Given the description of an element on the screen output the (x, y) to click on. 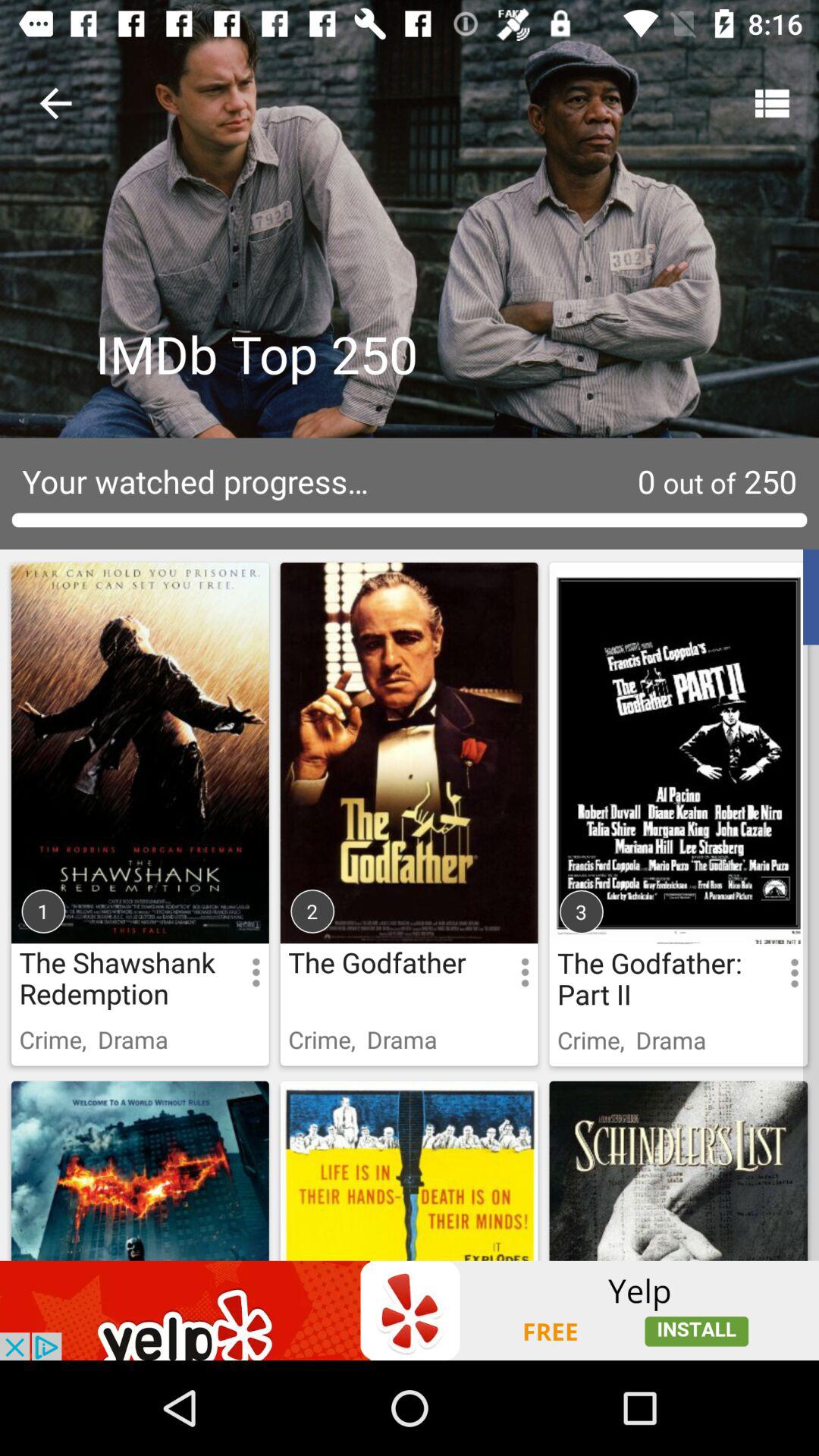
click on the godfather part 2 (678, 793)
click on the movie number 1 (140, 728)
select second movie thumbnail (408, 793)
